Given the description of an element on the screen output the (x, y) to click on. 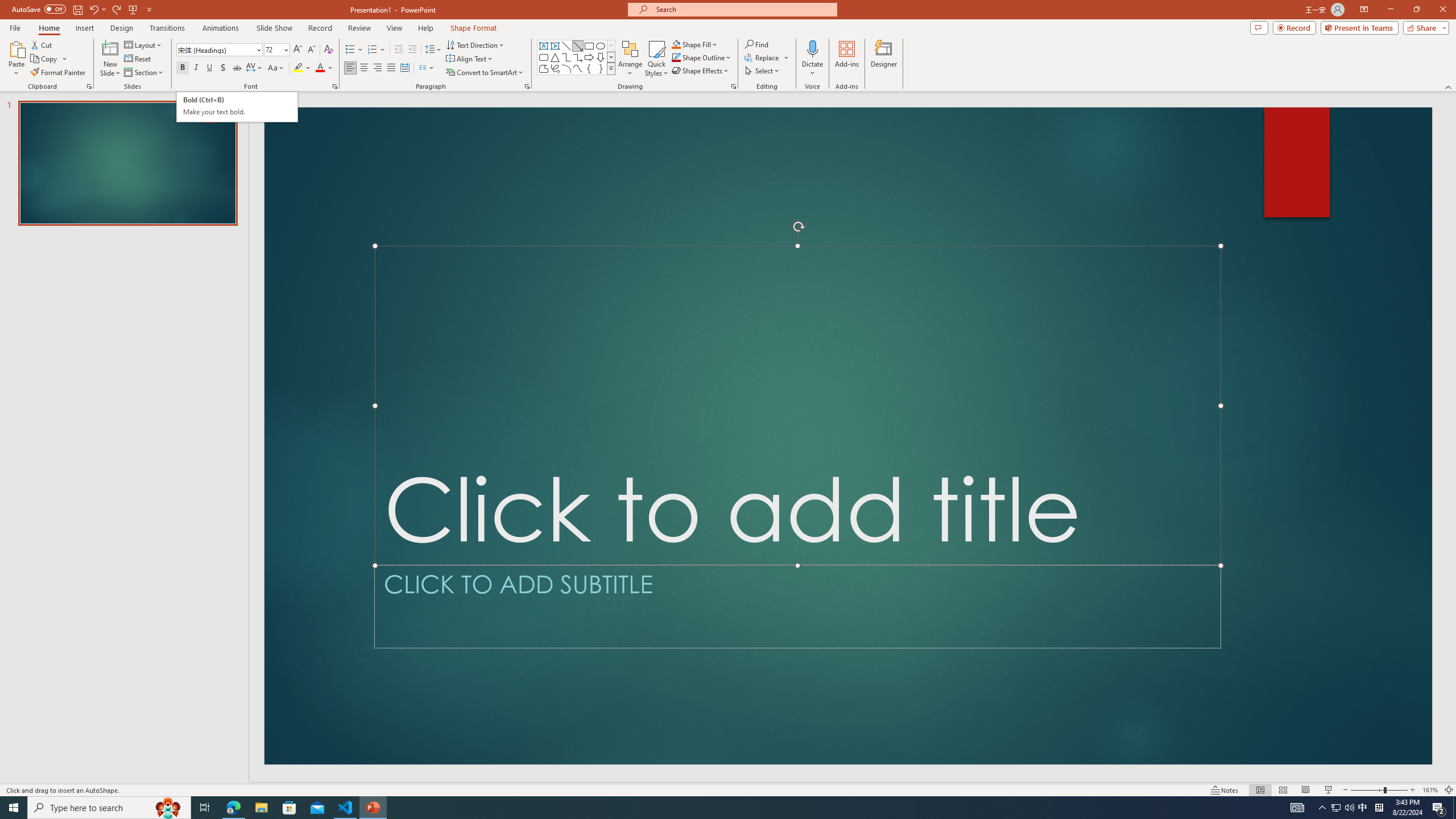
Bold (182, 67)
Line Arrow (577, 45)
Shadow (223, 67)
Shape Outline (701, 56)
Arc (566, 68)
Clear Formatting (327, 49)
Layout (143, 44)
Numbering (376, 49)
Paste (16, 48)
